Given the description of an element on the screen output the (x, y) to click on. 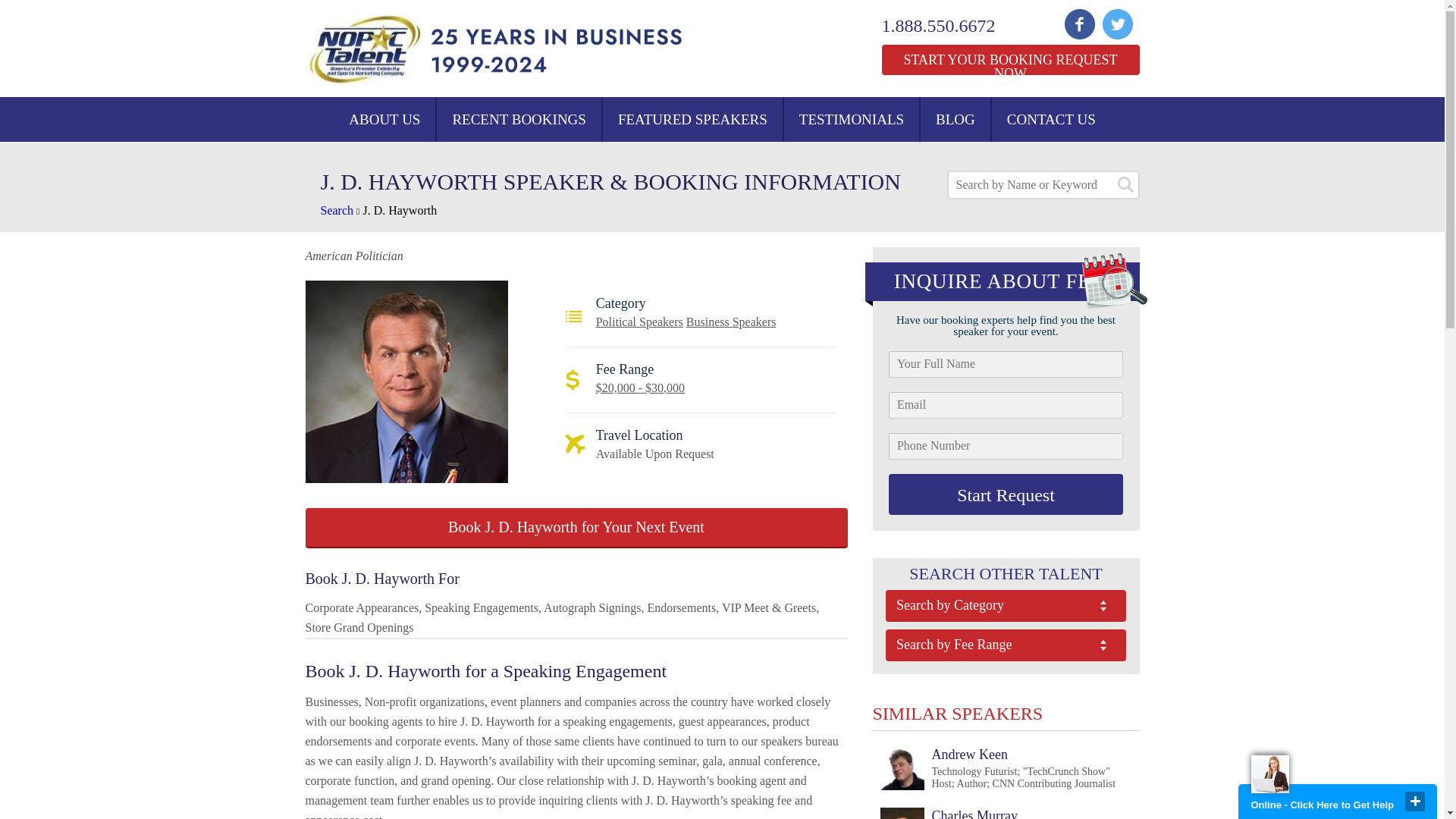
FEATURED SPEAKERS (692, 119)
J. D. Hayworth (399, 210)
Search by Fee Range (1005, 644)
TESTIMONIALS (851, 119)
RECENT BOOKINGS (517, 119)
Business Speakers (730, 321)
START YOUR BOOKING REQUEST NOW (1009, 60)
Search (336, 210)
ABOUT US (384, 119)
Political Speakers (638, 321)
1.888.550.6672 (947, 25)
BLOG (955, 119)
Search by Category (1005, 604)
CONTACT US (1050, 119)
